Given the description of an element on the screen output the (x, y) to click on. 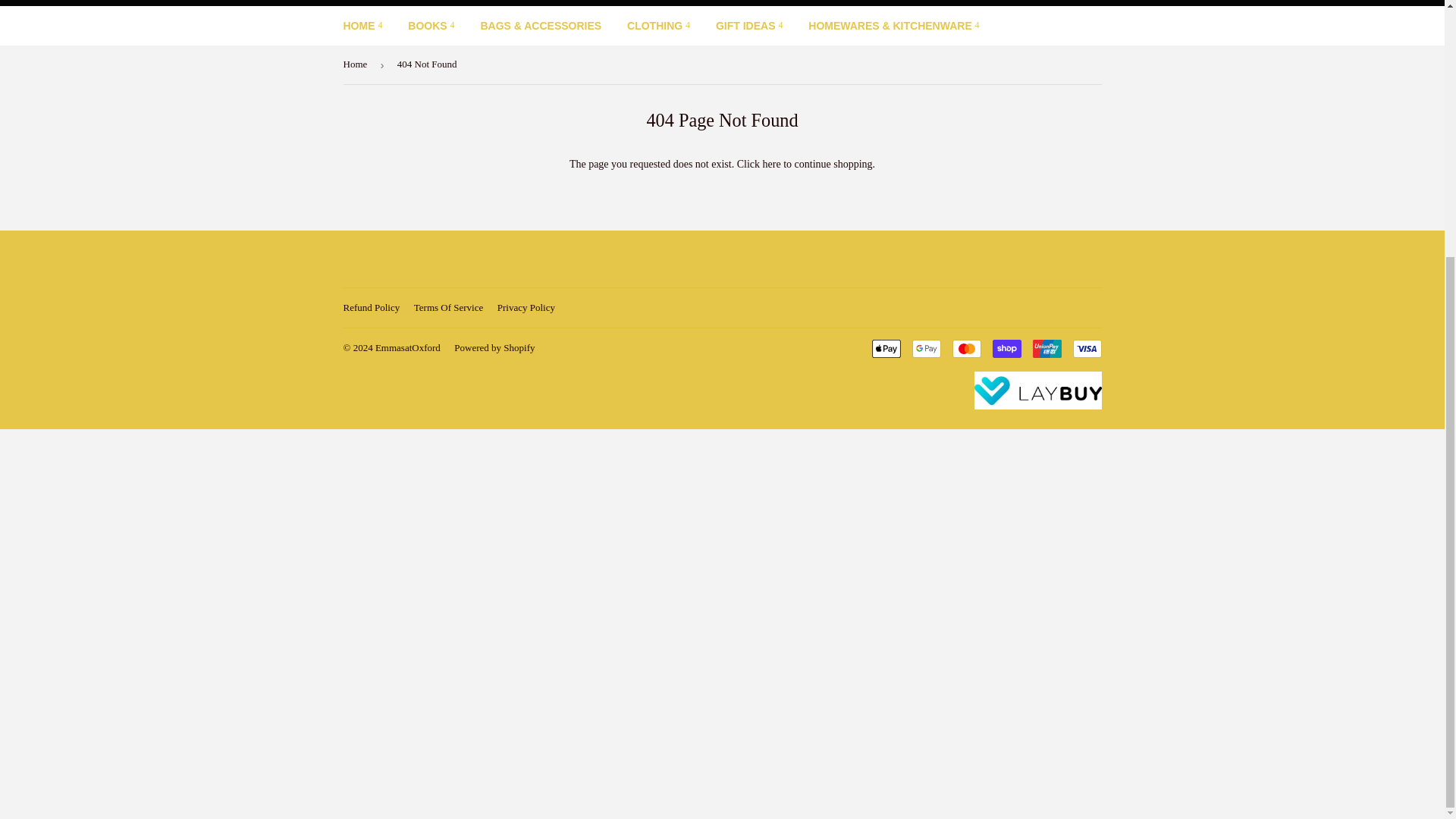
Google Pay (925, 348)
Union Pay (1046, 348)
Mastercard (966, 348)
Shop Pay (1005, 348)
Apple Pay (886, 348)
Visa (1085, 348)
